Given the description of an element on the screen output the (x, y) to click on. 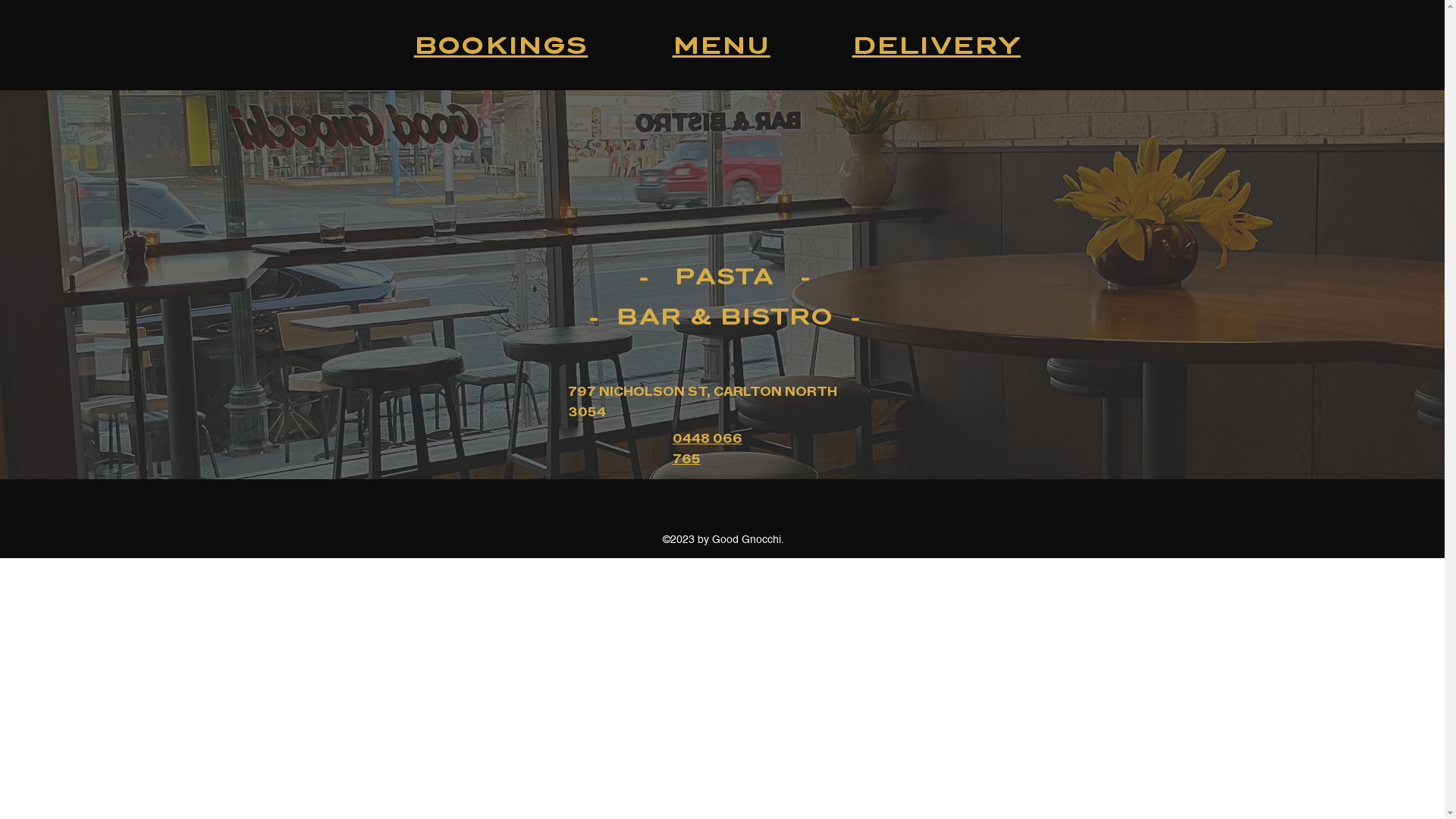
DELIVERY Element type: text (936, 45)
0448 066 765 Element type: text (706, 447)
BOOKINGS Element type: text (500, 45)
INSTAGRAM Element type: text (722, 496)
MENU Element type: text (720, 45)
